Given the description of an element on the screen output the (x, y) to click on. 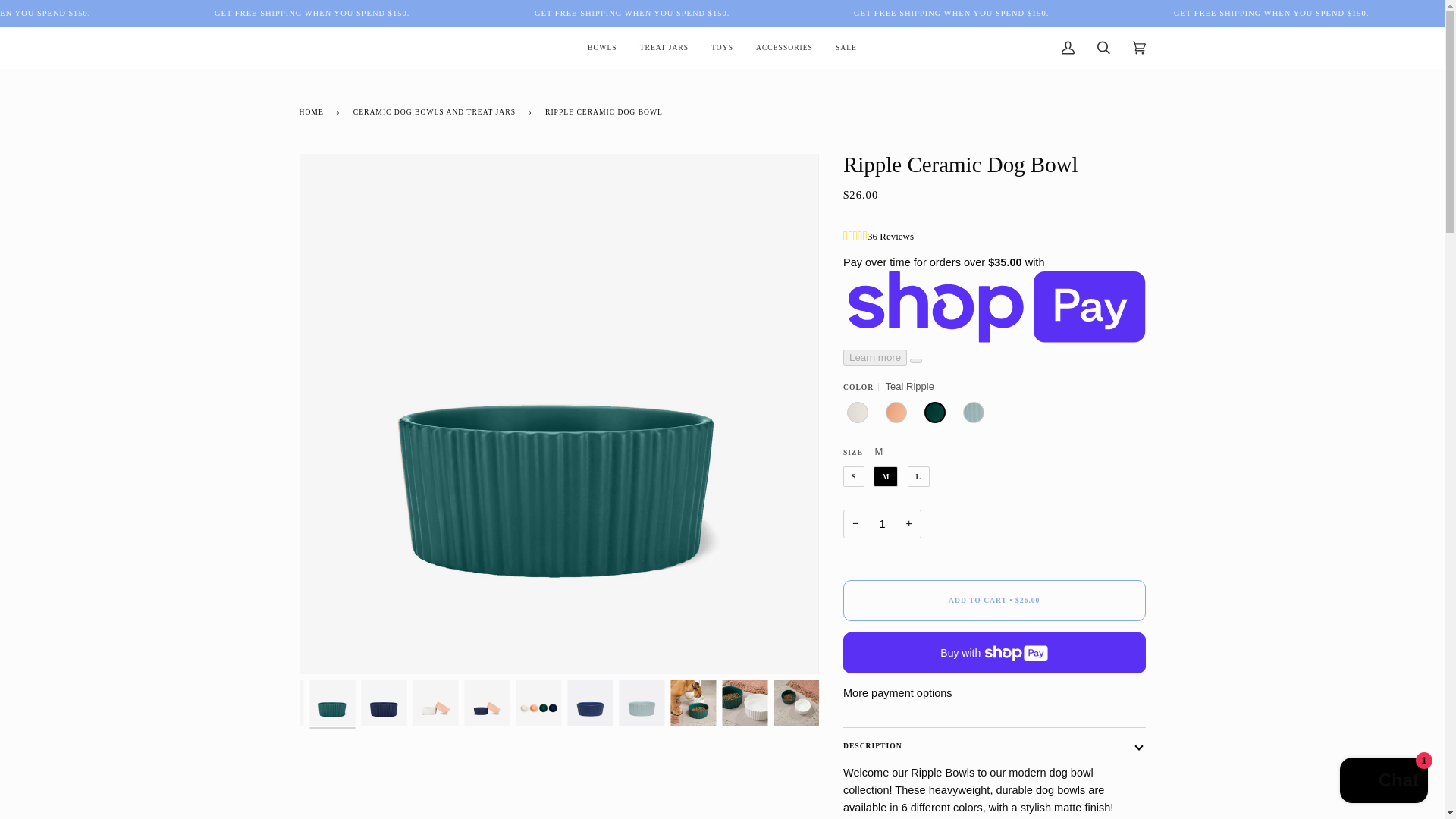
TREAT JARS (664, 47)
SALE (845, 47)
Shopify online store chat (1383, 781)
TOYS (722, 47)
1 (882, 523)
ACCESSORIES (784, 47)
Back to the frontpage (313, 111)
CERAMIC DOG BOWLS AND TREAT JARS (437, 111)
BOWLS (602, 47)
HOME (313, 111)
